Given the description of an element on the screen output the (x, y) to click on. 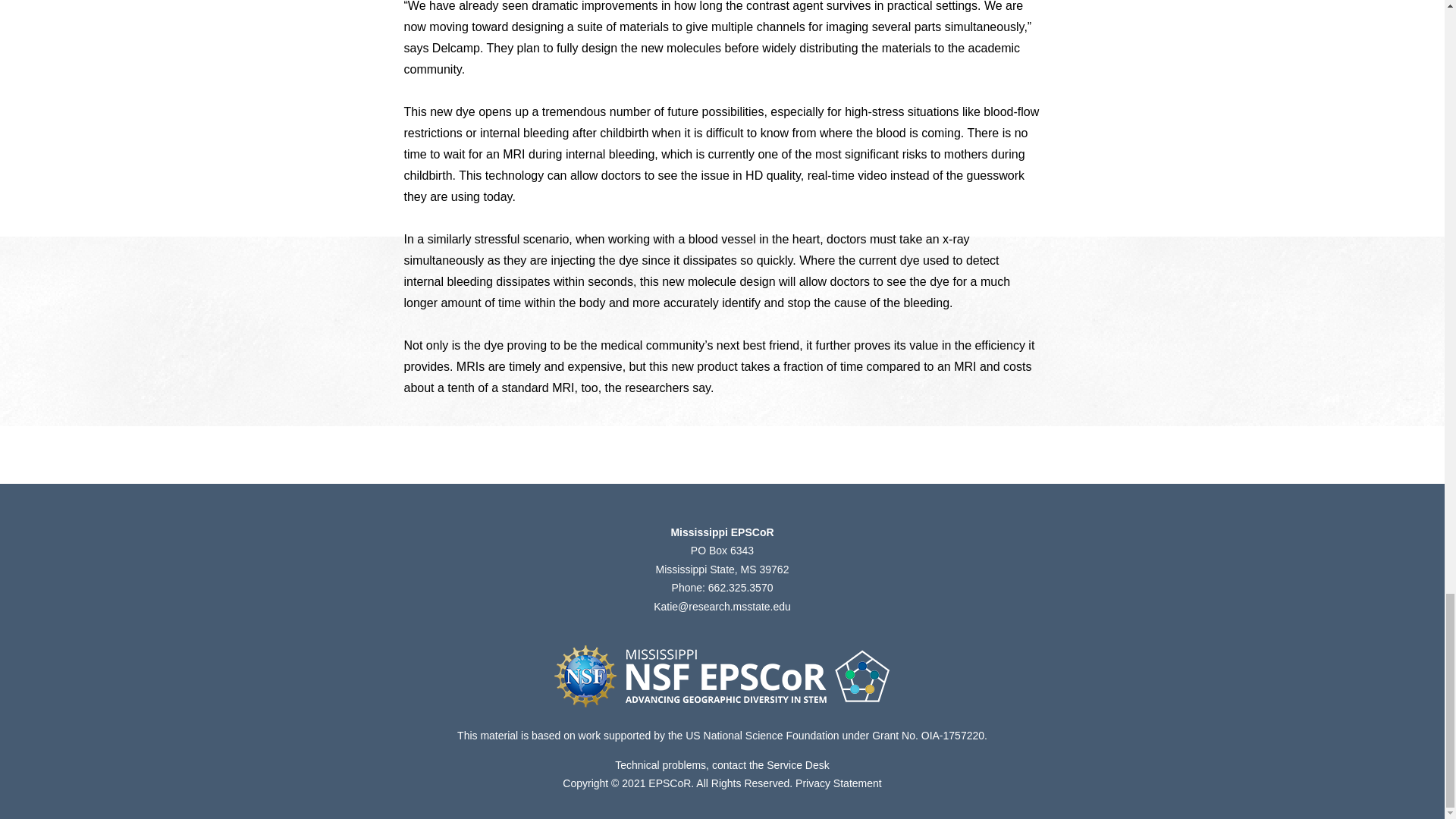
NSF EPSCoR (722, 676)
